Given the description of an element on the screen output the (x, y) to click on. 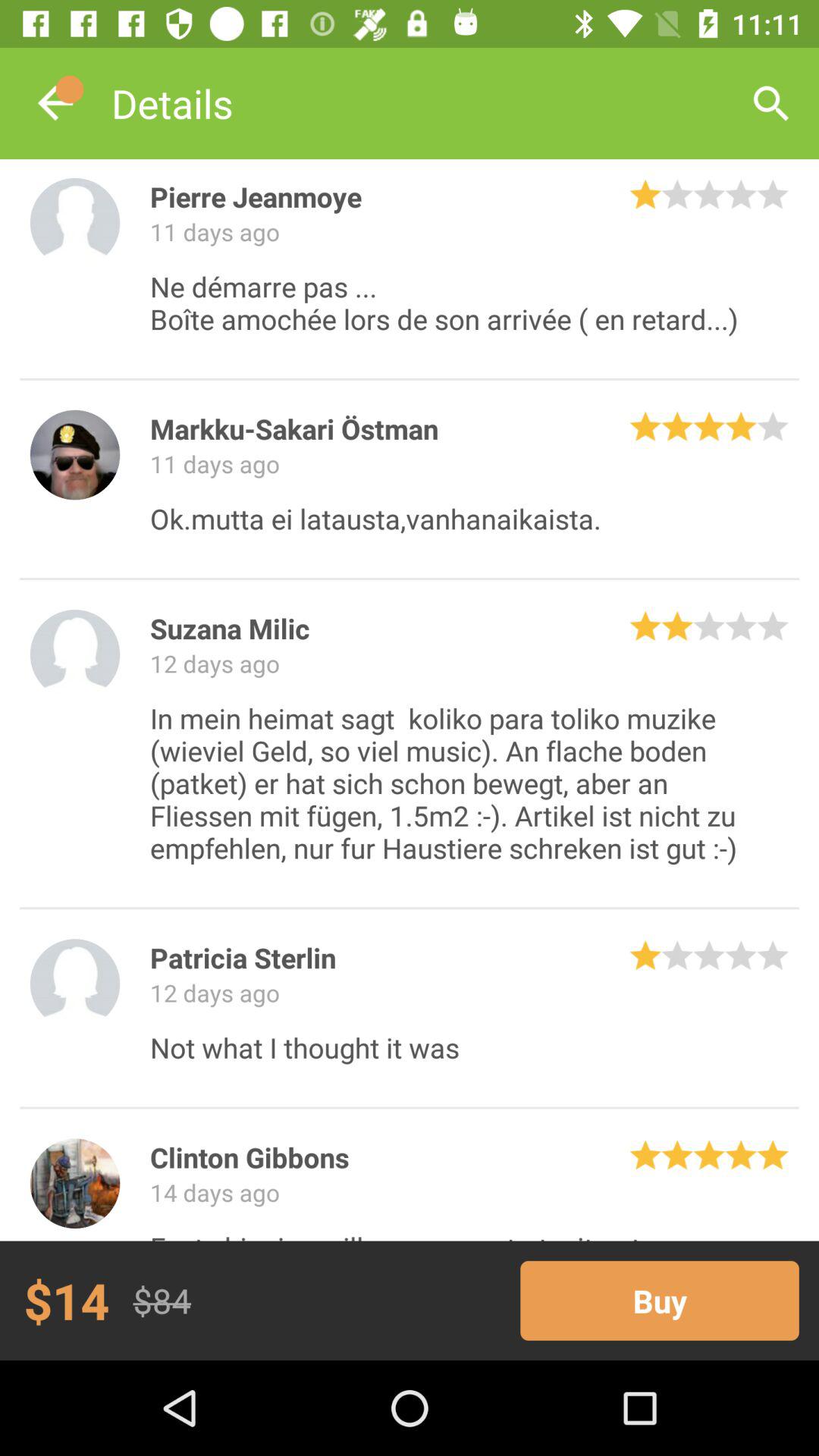
click the icon next to details item (771, 103)
